Given the description of an element on the screen output the (x, y) to click on. 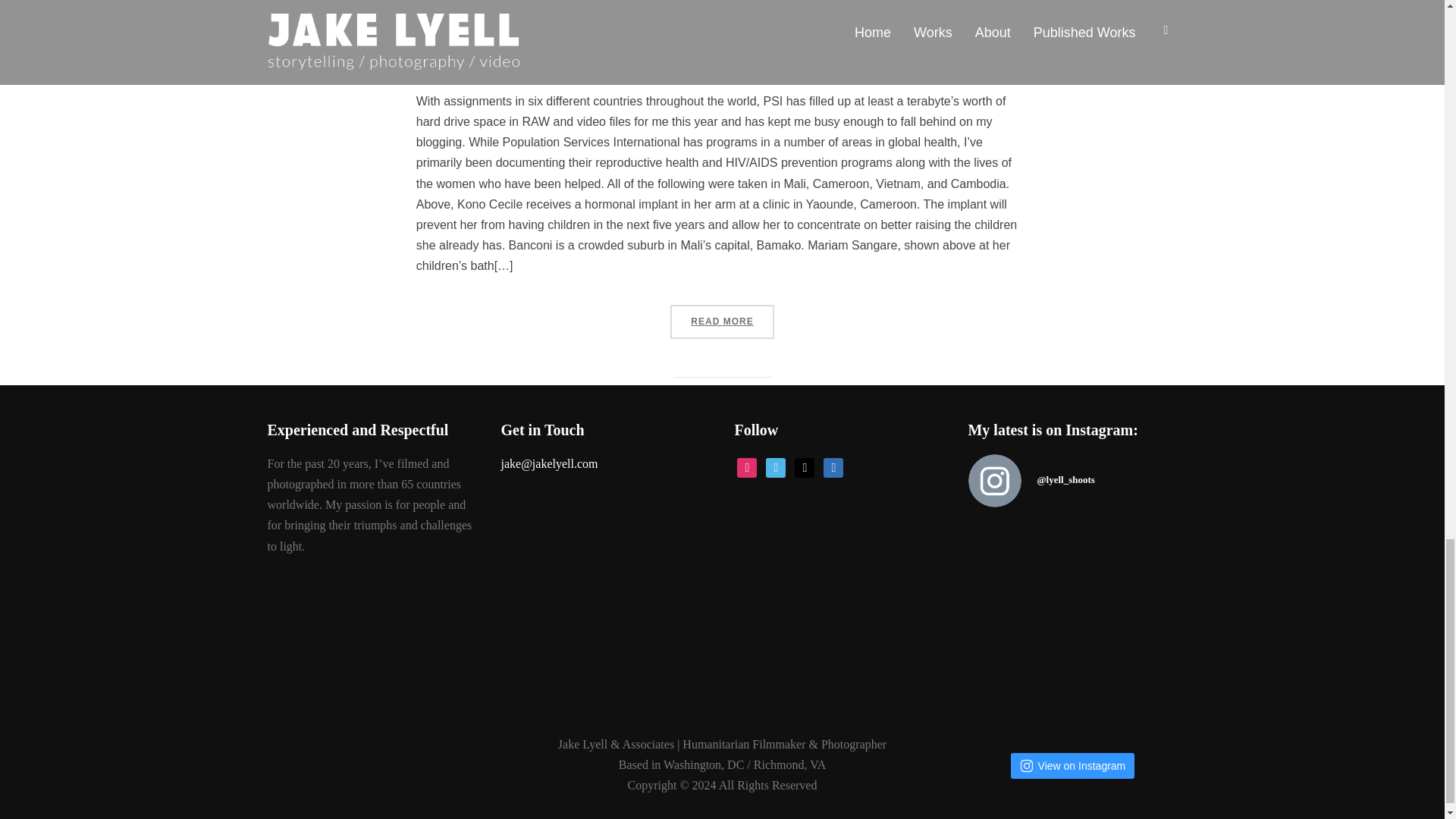
Default Label (775, 466)
READ MORE (721, 321)
instagram (746, 466)
Default Label (803, 466)
vimeo (775, 466)
Instagram (746, 466)
linkedin (833, 466)
Default Label (833, 466)
mail (803, 466)
